Given the description of an element on the screen output the (x, y) to click on. 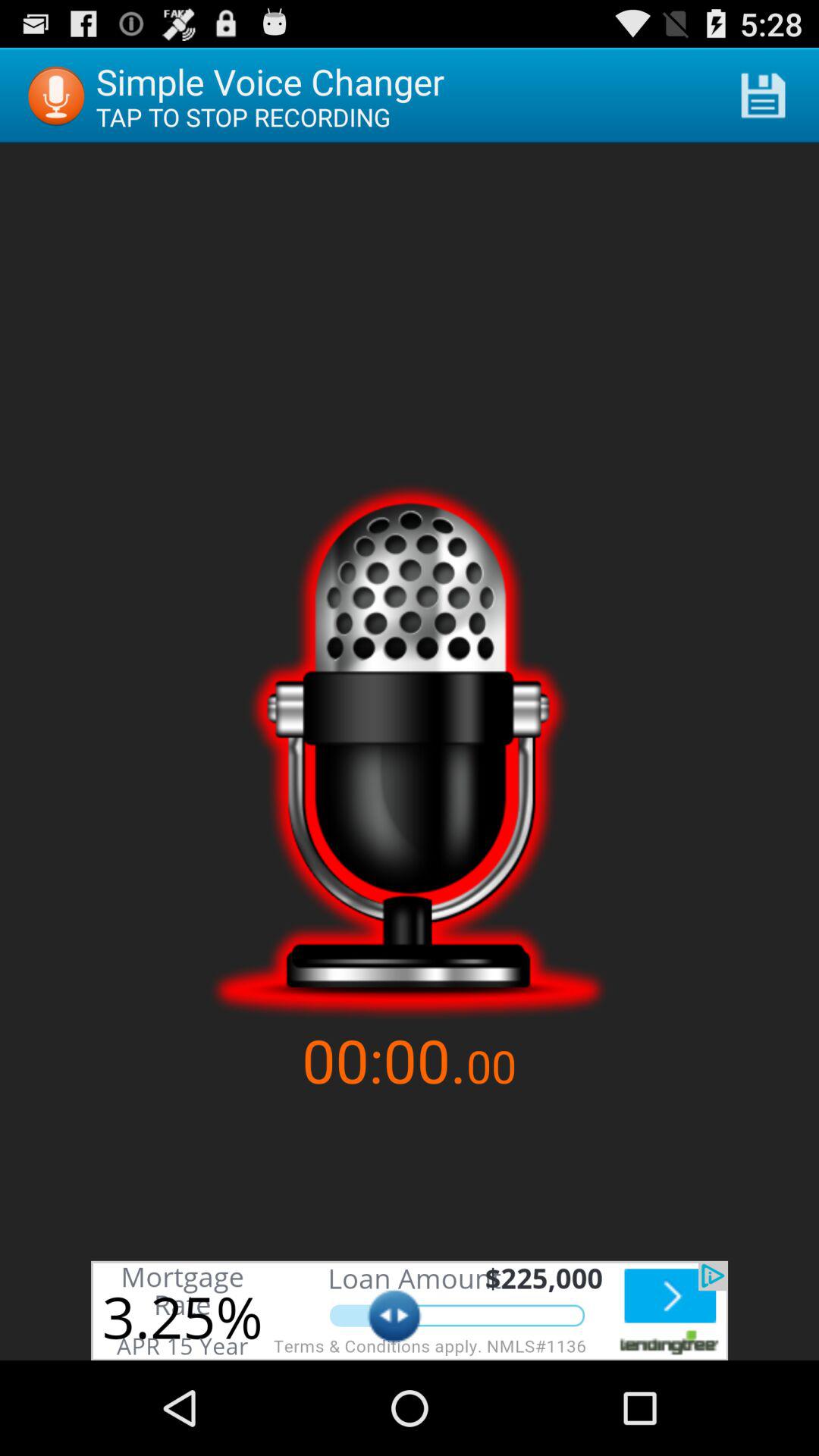
fair ward (409, 1310)
